Given the description of an element on the screen output the (x, y) to click on. 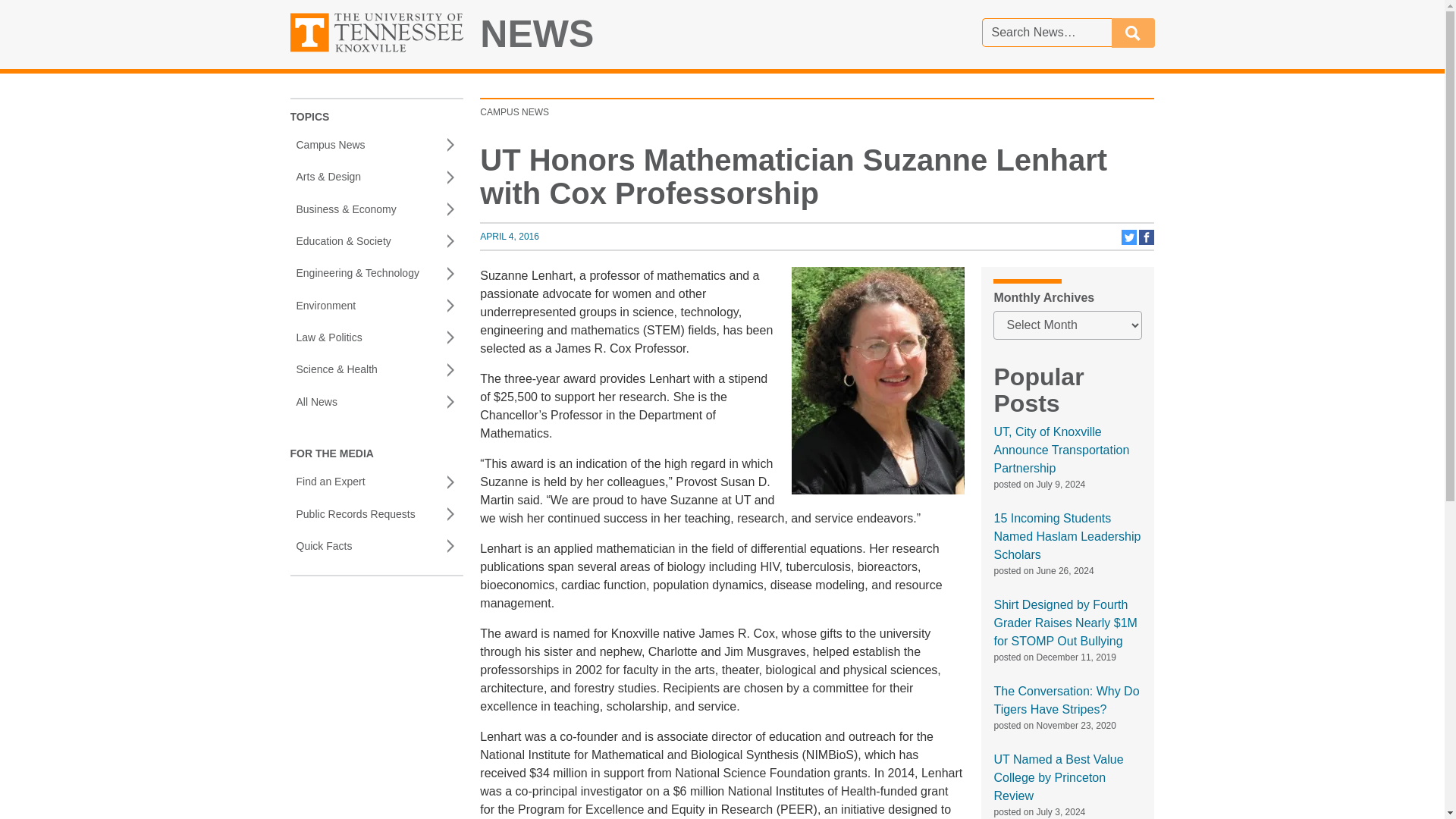
Environment (376, 305)
UT, City of Knoxville Announce Transportation Partnership (1060, 450)
NEWS (537, 34)
All News (376, 401)
Find an Expert (376, 481)
UT Named a Best Value College by Princeton Review (1057, 777)
Share on Facebook. (1146, 241)
Share on Twitter. (1129, 241)
Search (1133, 32)
Campus News (376, 144)
